Given the description of an element on the screen output the (x, y) to click on. 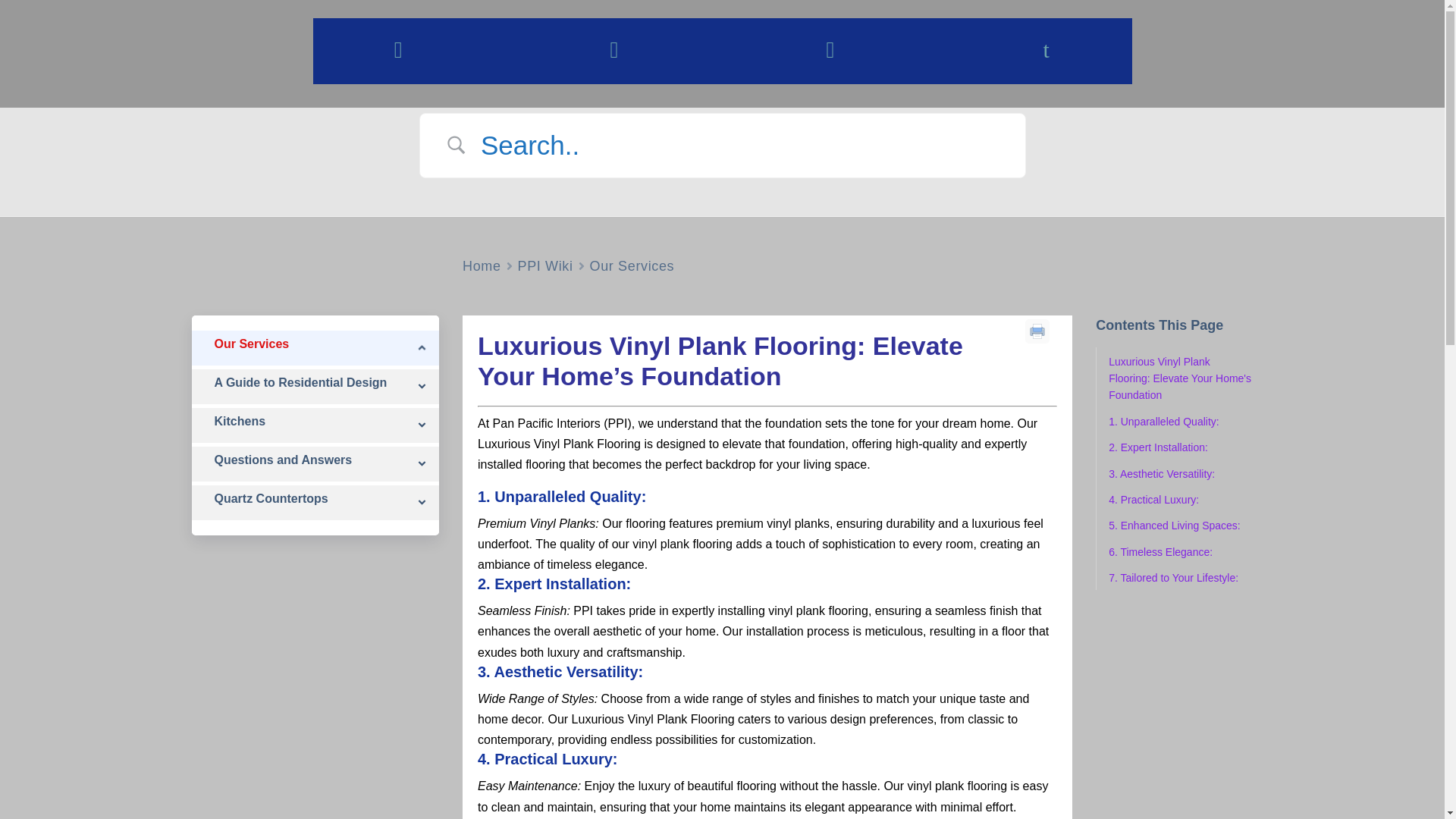
PPI Wiki (545, 266)
Our Services (632, 266)
Home (481, 266)
